Given the description of an element on the screen output the (x, y) to click on. 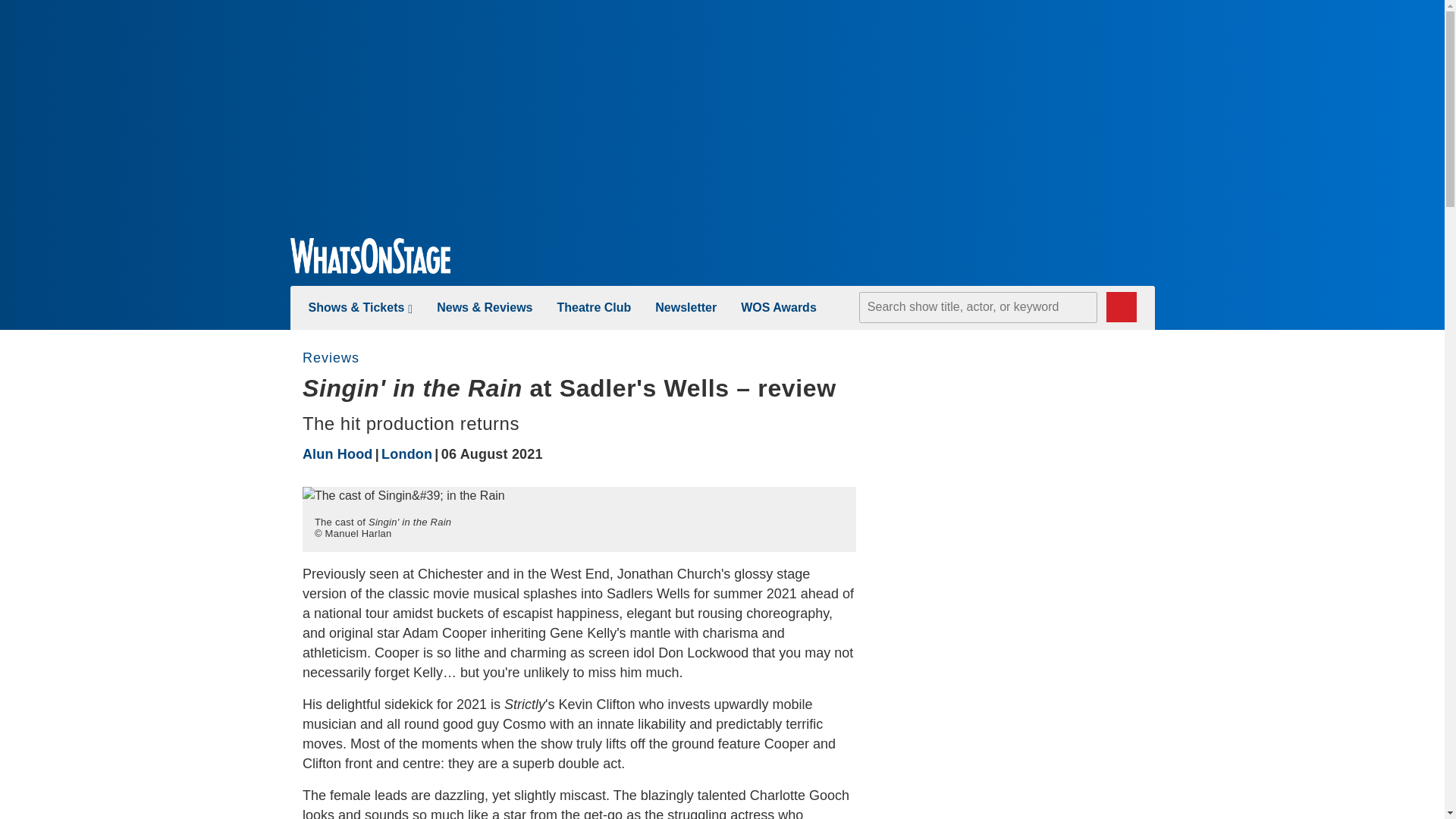
Theatre Club (593, 307)
WOS Awards (778, 307)
3rd party ad content (1040, 446)
new-and-reviews-link (484, 307)
Newsletter (685, 307)
